Given the description of an element on the screen output the (x, y) to click on. 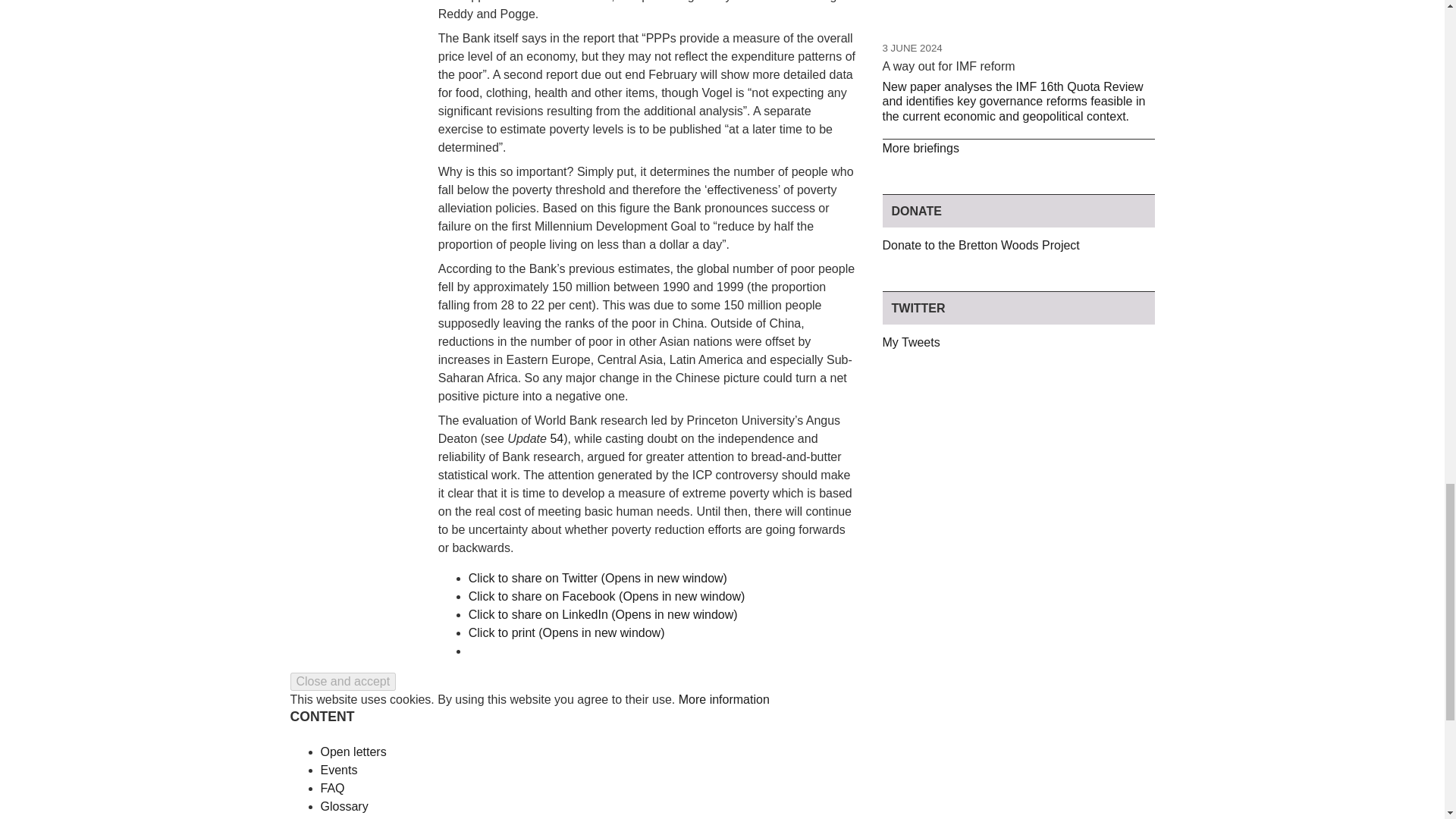
Click to share on LinkedIn (603, 614)
Click to share on Twitter (597, 577)
Click to share on Facebook (606, 595)
Close and accept (342, 681)
Click to print (566, 632)
